Given the description of an element on the screen output the (x, y) to click on. 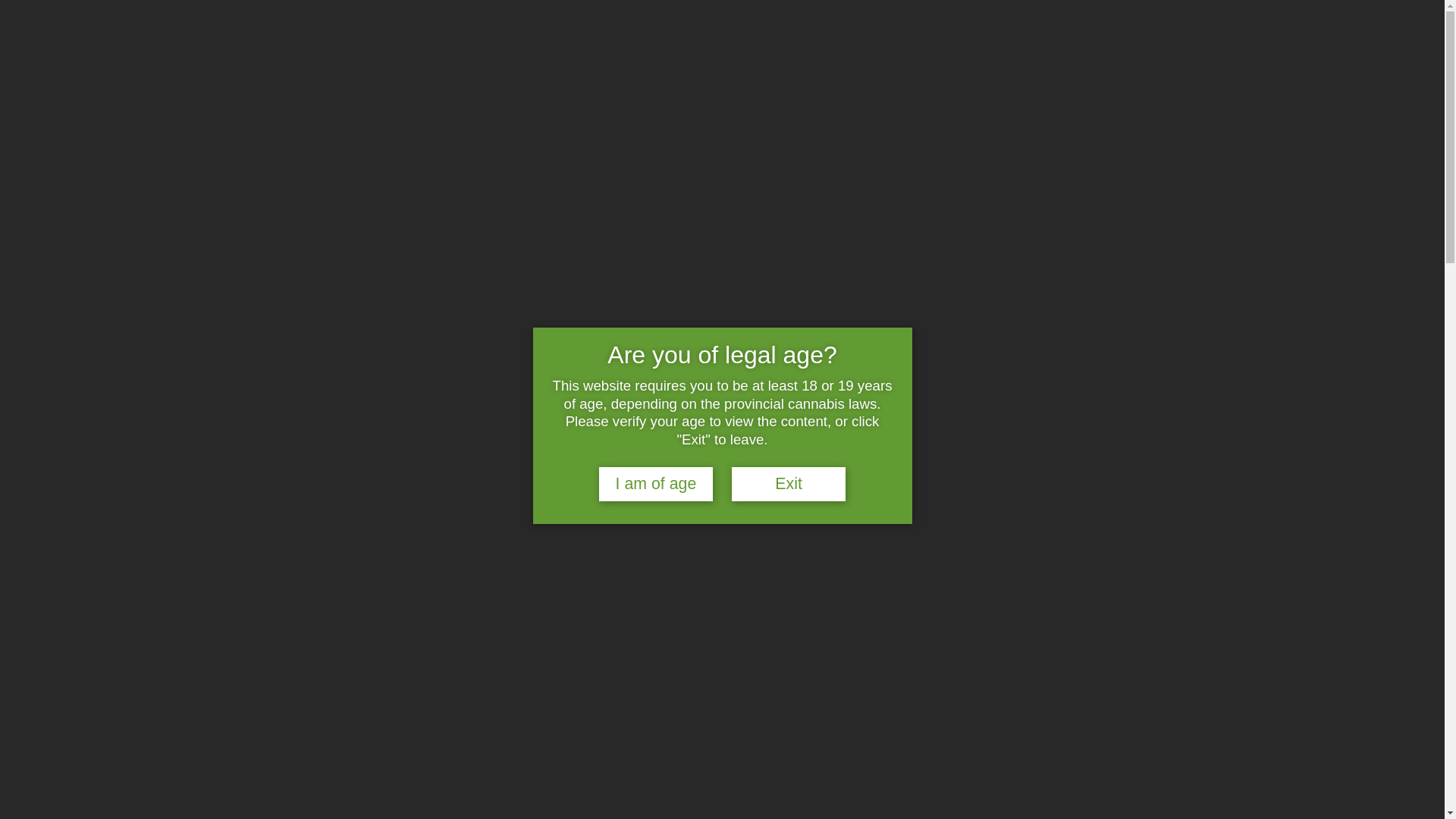
Grow Element type: text (952, 64)
About Element type: text (887, 64)
I am of age Element type: text (655, 484)
Rules and Regs Element type: text (1039, 64)
Exit Element type: text (788, 484)
FAQs Element type: text (1118, 64)
